Given the description of an element on the screen output the (x, y) to click on. 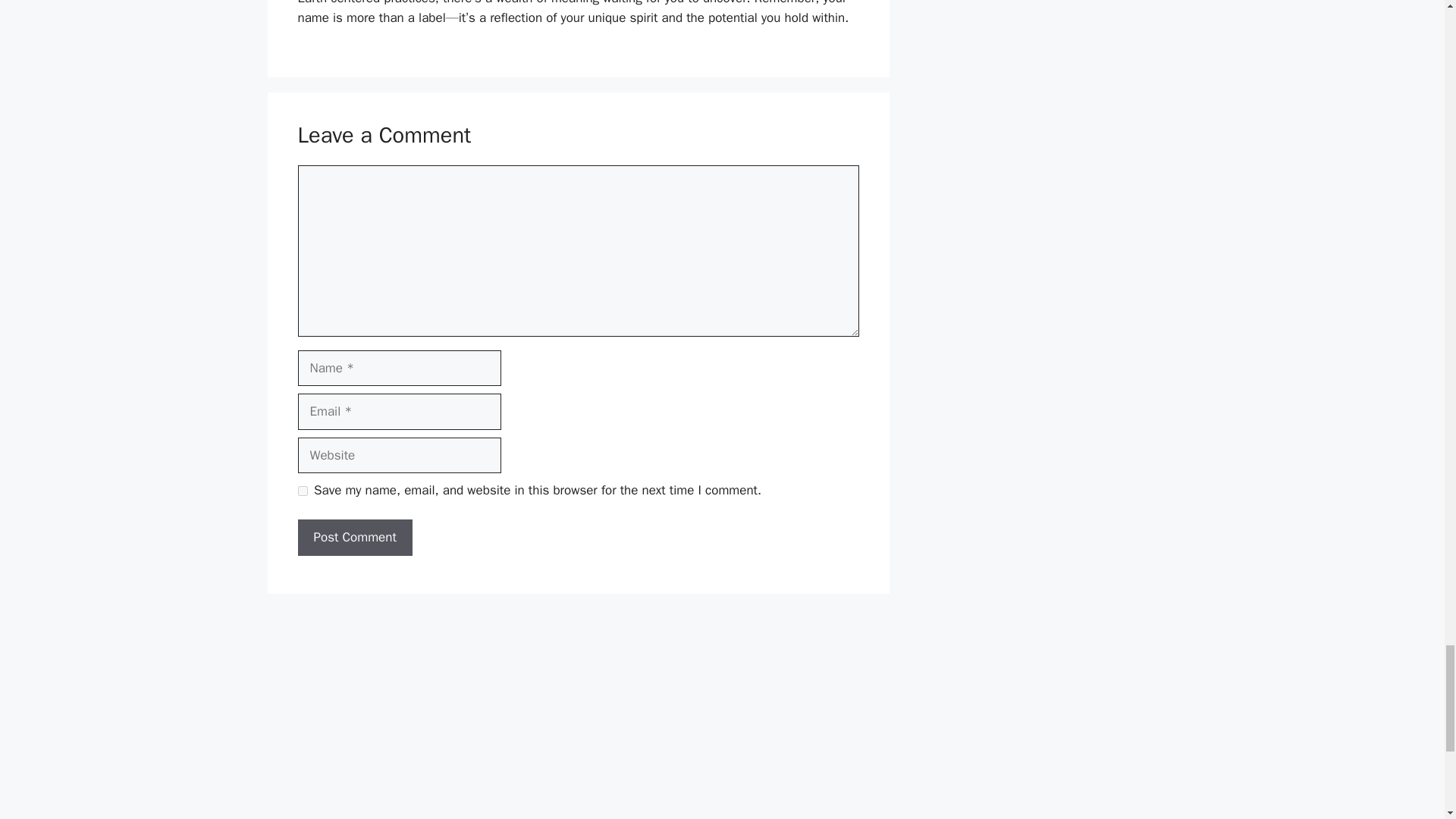
Post Comment (354, 537)
Post Comment (354, 537)
yes (302, 491)
